Given the description of an element on the screen output the (x, y) to click on. 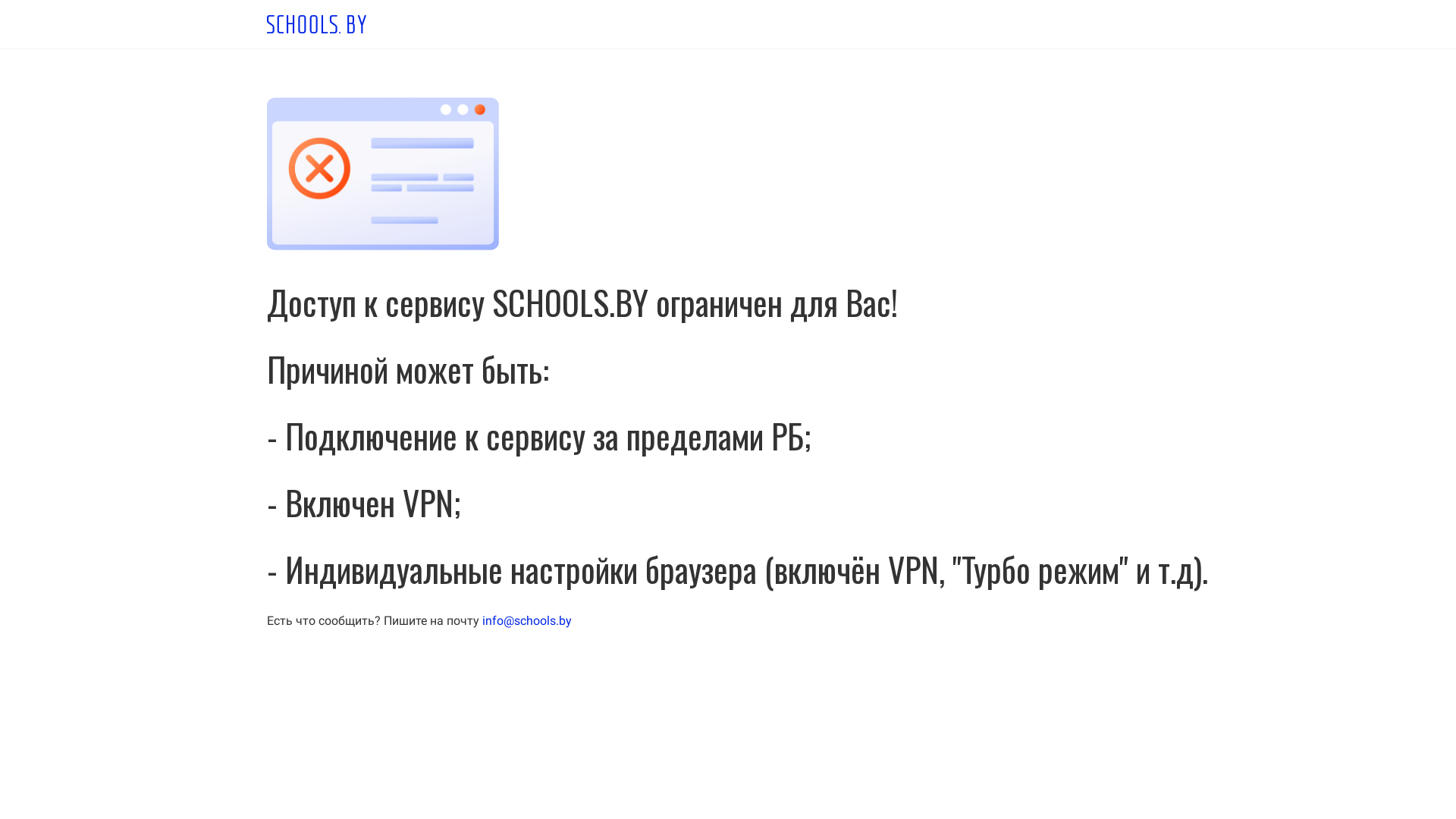
info@schools.by Element type: text (526, 620)
